Given the description of an element on the screen output the (x, y) to click on. 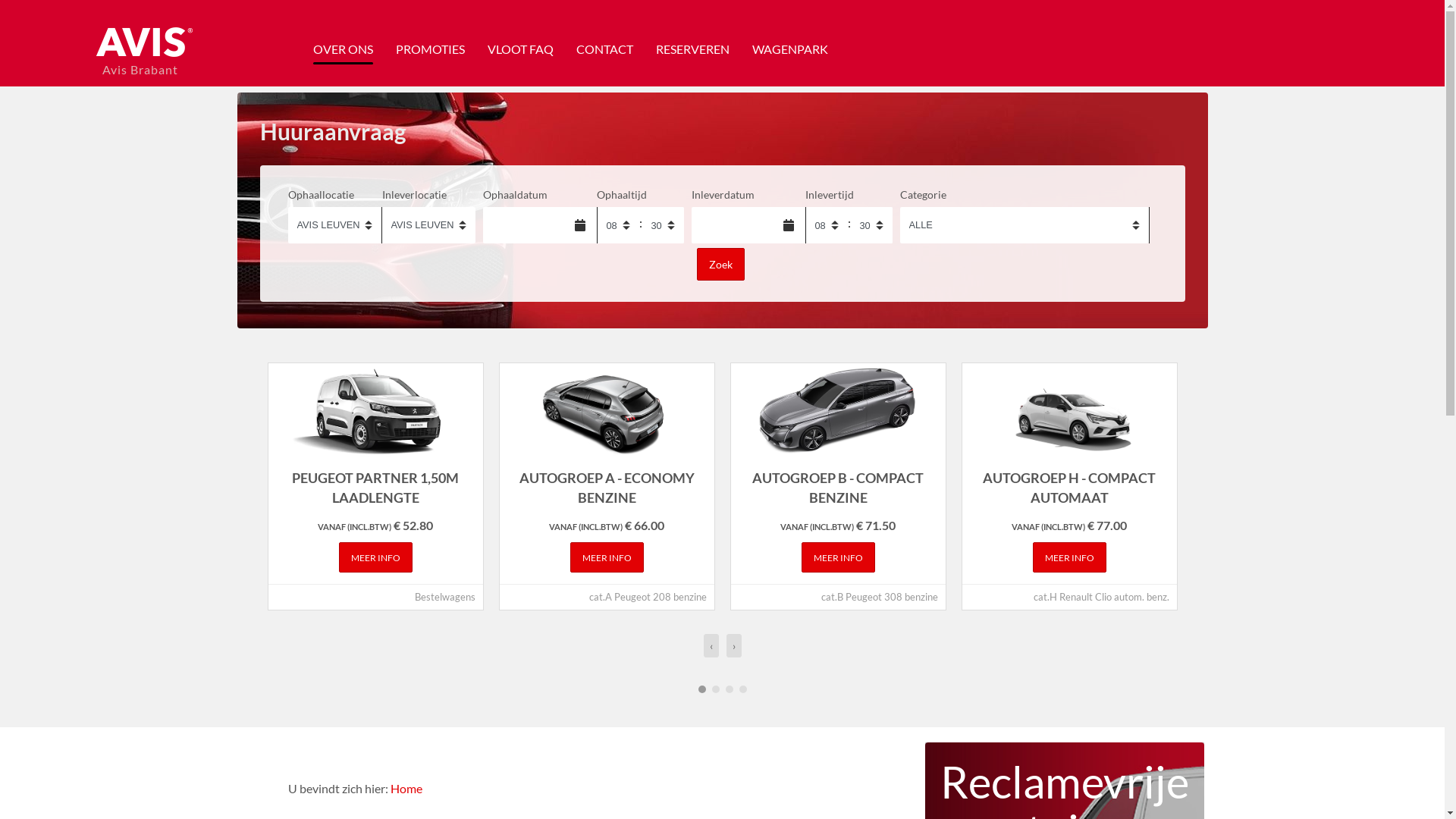
MEER INFO Element type: text (837, 557)
Zoek Element type: text (719, 264)
MEER INFO Element type: text (1069, 557)
Avis Brabant Element type: text (142, 53)
MEER INFO Element type: text (606, 557)
WAGENPARK Element type: text (790, 48)
RESERVEREN Element type: text (691, 48)
VLOOT FAQ Element type: text (519, 48)
OVER ONS Element type: text (342, 48)
CONTACT Element type: text (604, 48)
PROMOTIES Element type: text (429, 48)
MEER INFO Element type: text (374, 557)
